Given the description of an element on the screen output the (x, y) to click on. 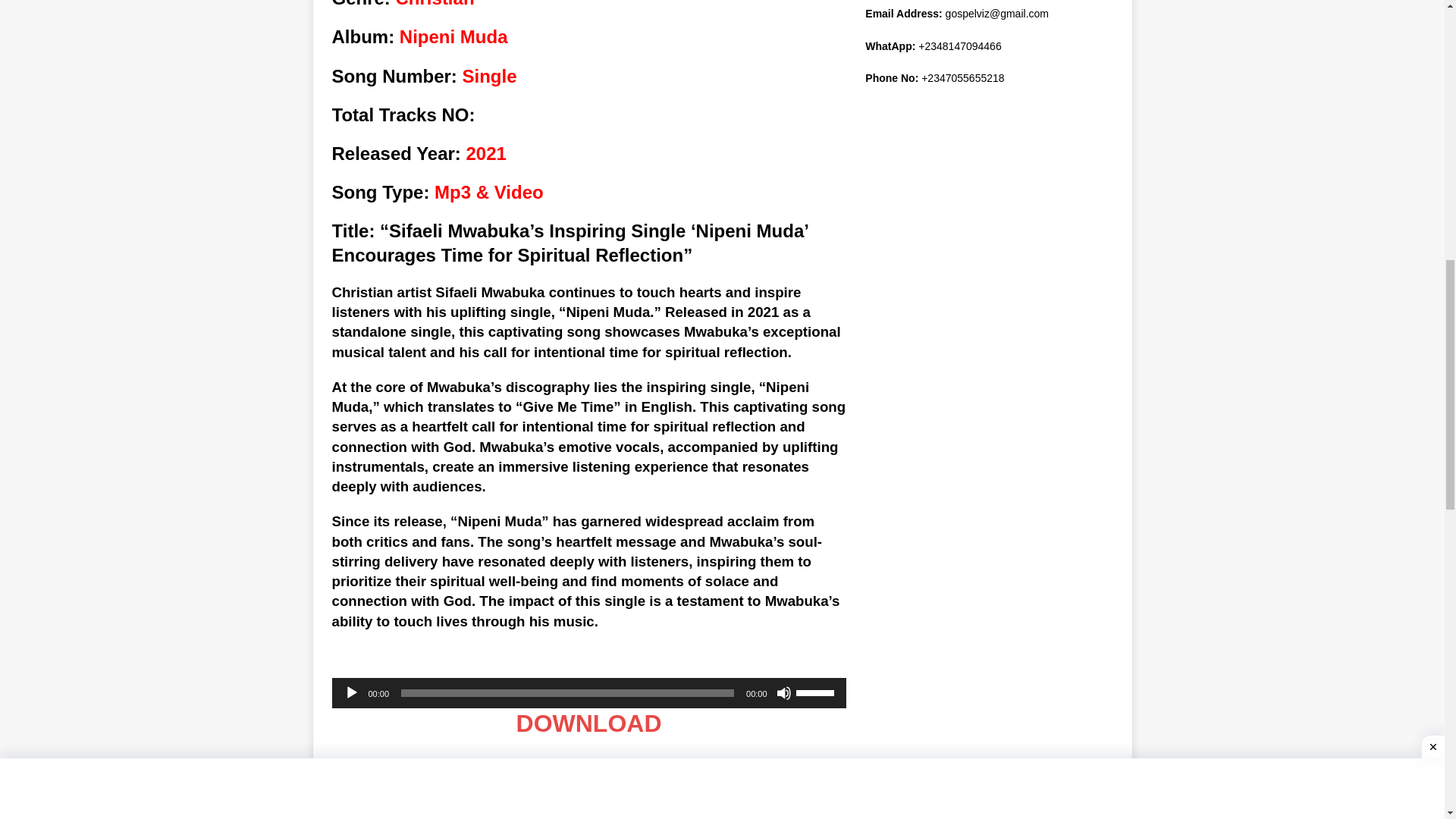
Mute (784, 693)
Play (351, 693)
DOWNLOAD (589, 723)
